Given the description of an element on the screen output the (x, y) to click on. 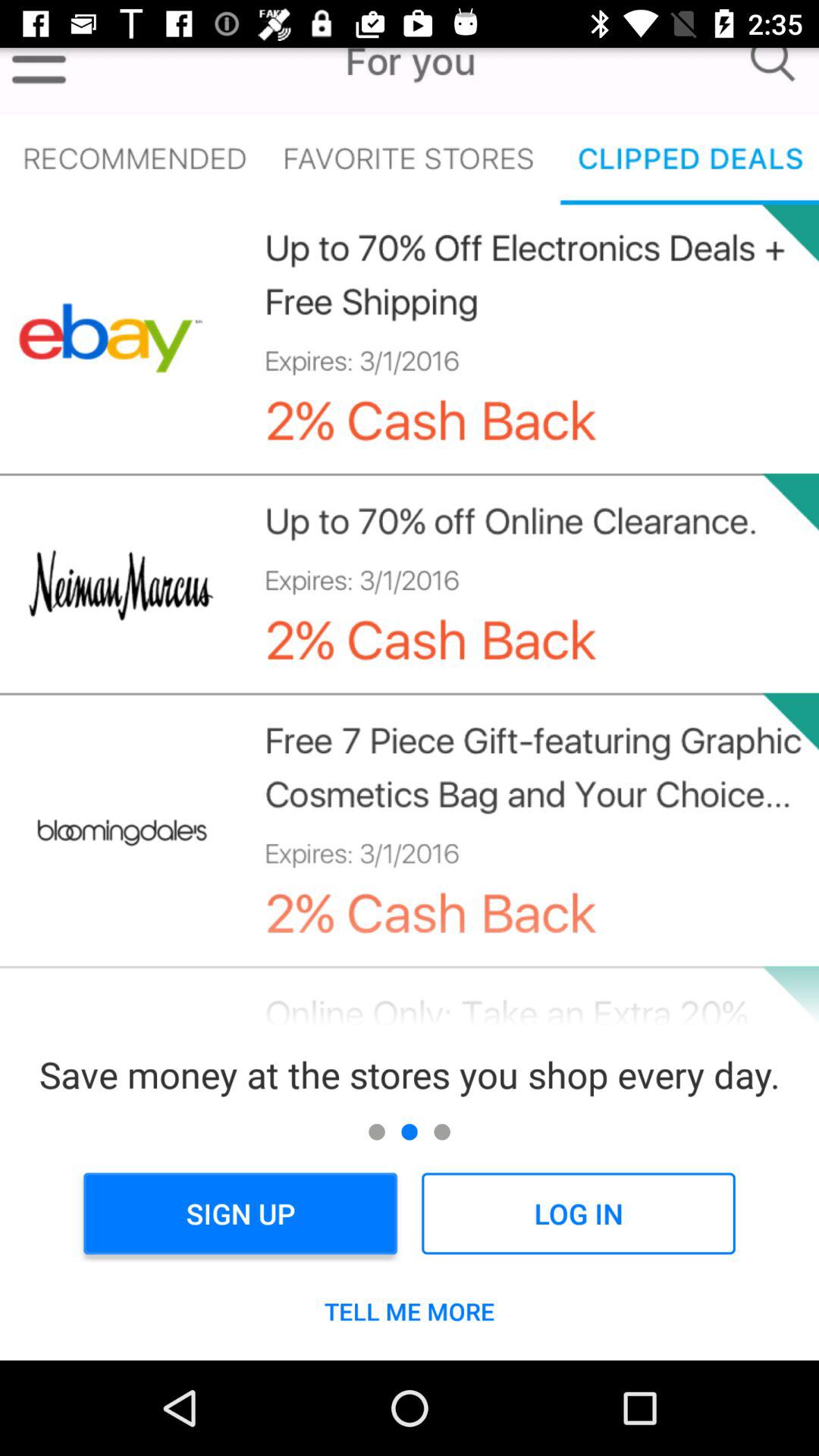
open the icon at the bottom left corner (240, 1213)
